Given the description of an element on the screen output the (x, y) to click on. 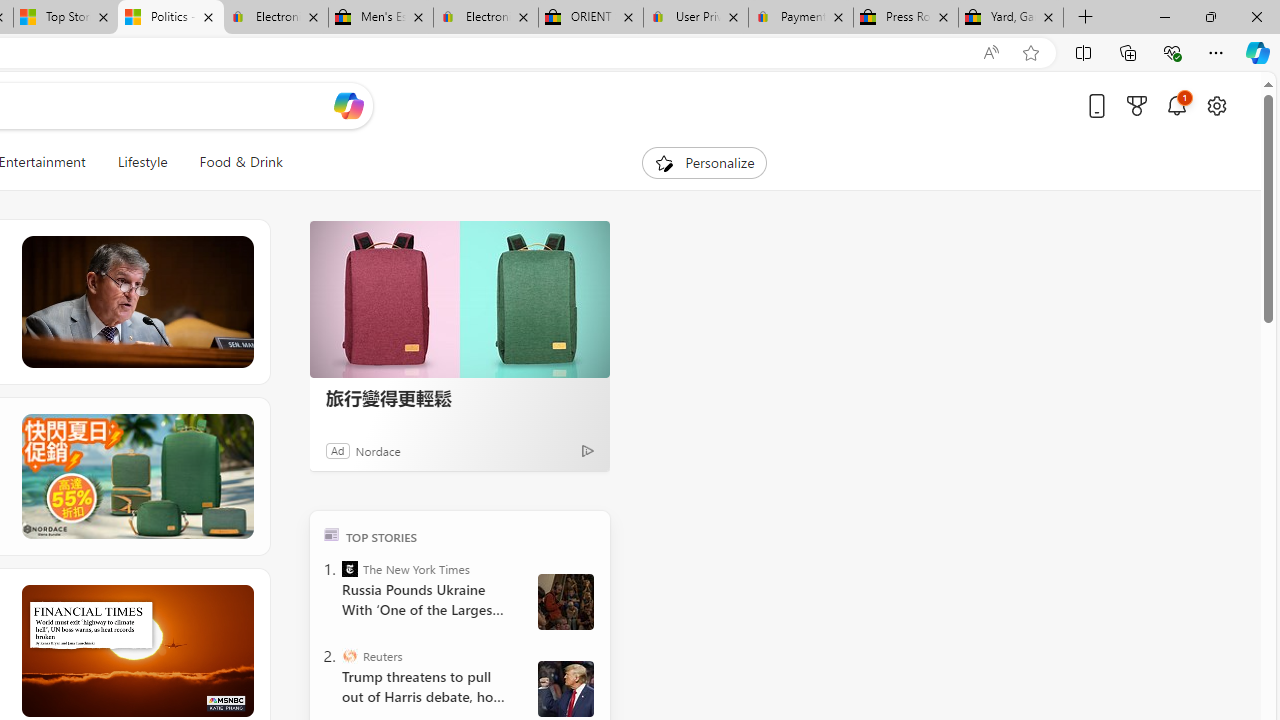
Reuters (349, 655)
